Given the description of an element on the screen output the (x, y) to click on. 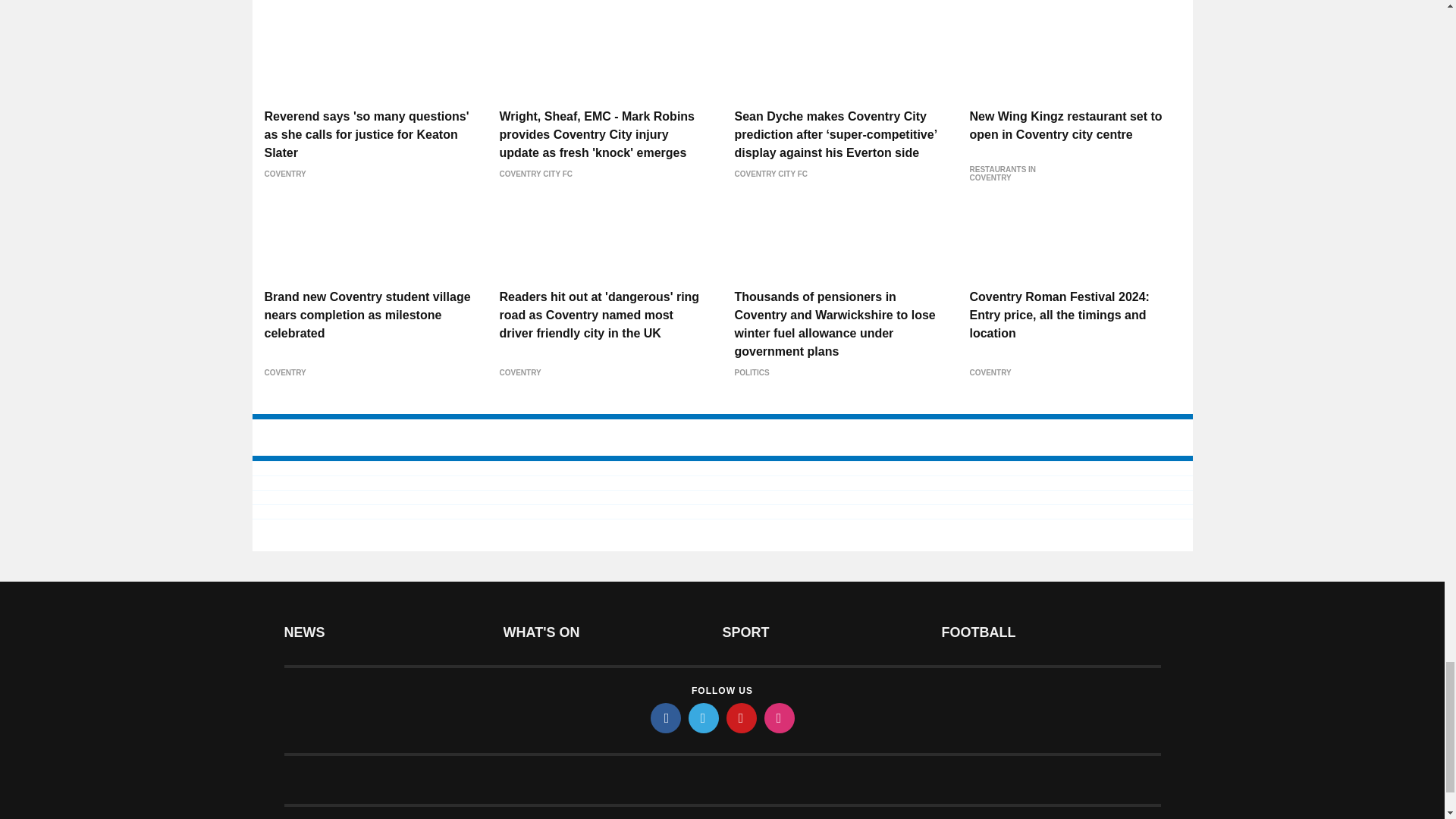
pinterest (741, 717)
facebook (665, 717)
instagram (779, 717)
twitter (703, 717)
